Given the description of an element on the screen output the (x, y) to click on. 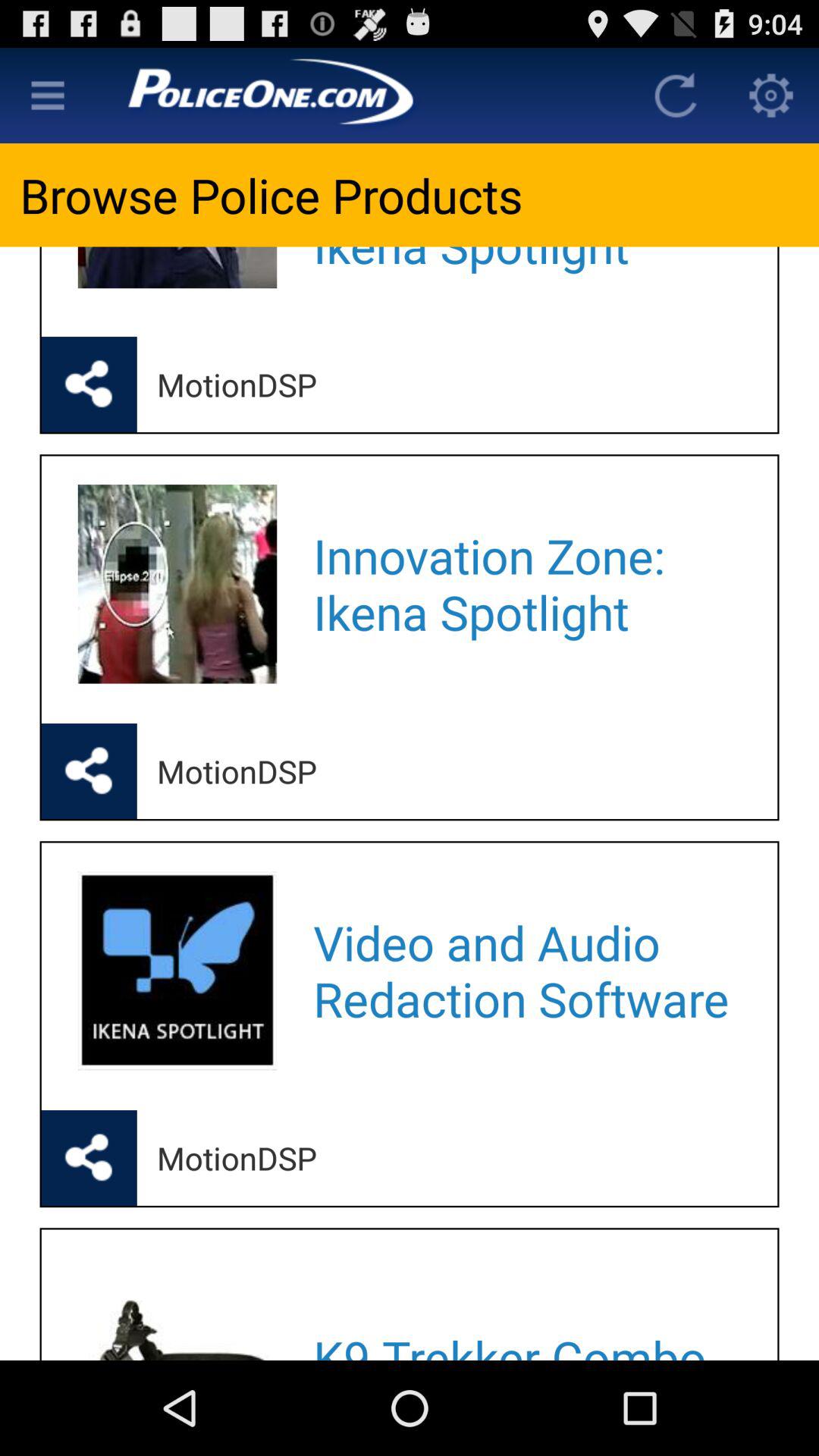
loads settings (771, 95)
